Given the description of an element on the screen output the (x, y) to click on. 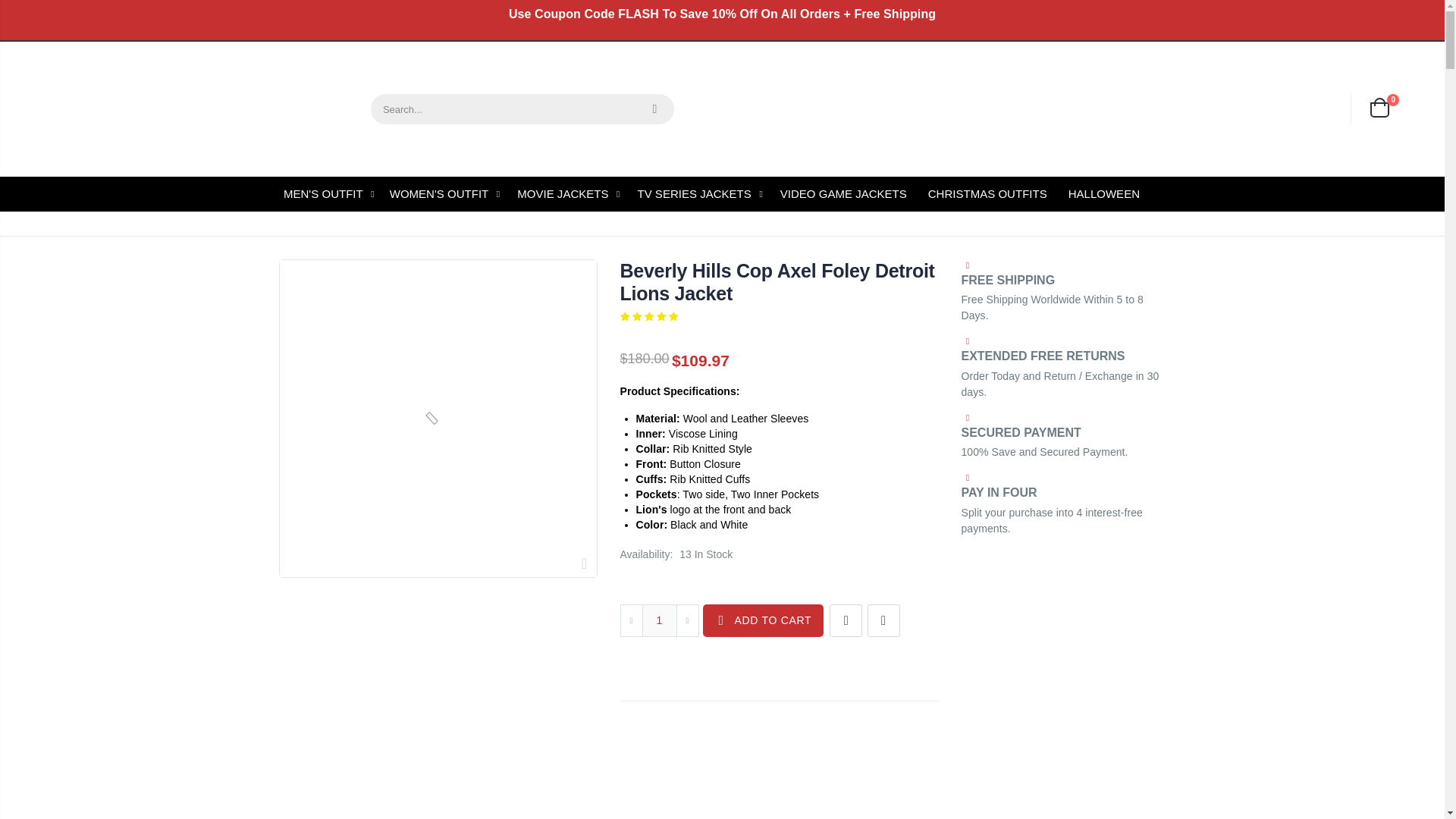
1 (659, 620)
MOVIE JACKETS (571, 193)
MEN'S OUTFIT (332, 193)
Search (654, 109)
Add to compare (883, 620)
0 (1379, 109)
Add to wishlist (845, 620)
WOMEN'S OUTFIT (449, 193)
